Given the description of an element on the screen output the (x, y) to click on. 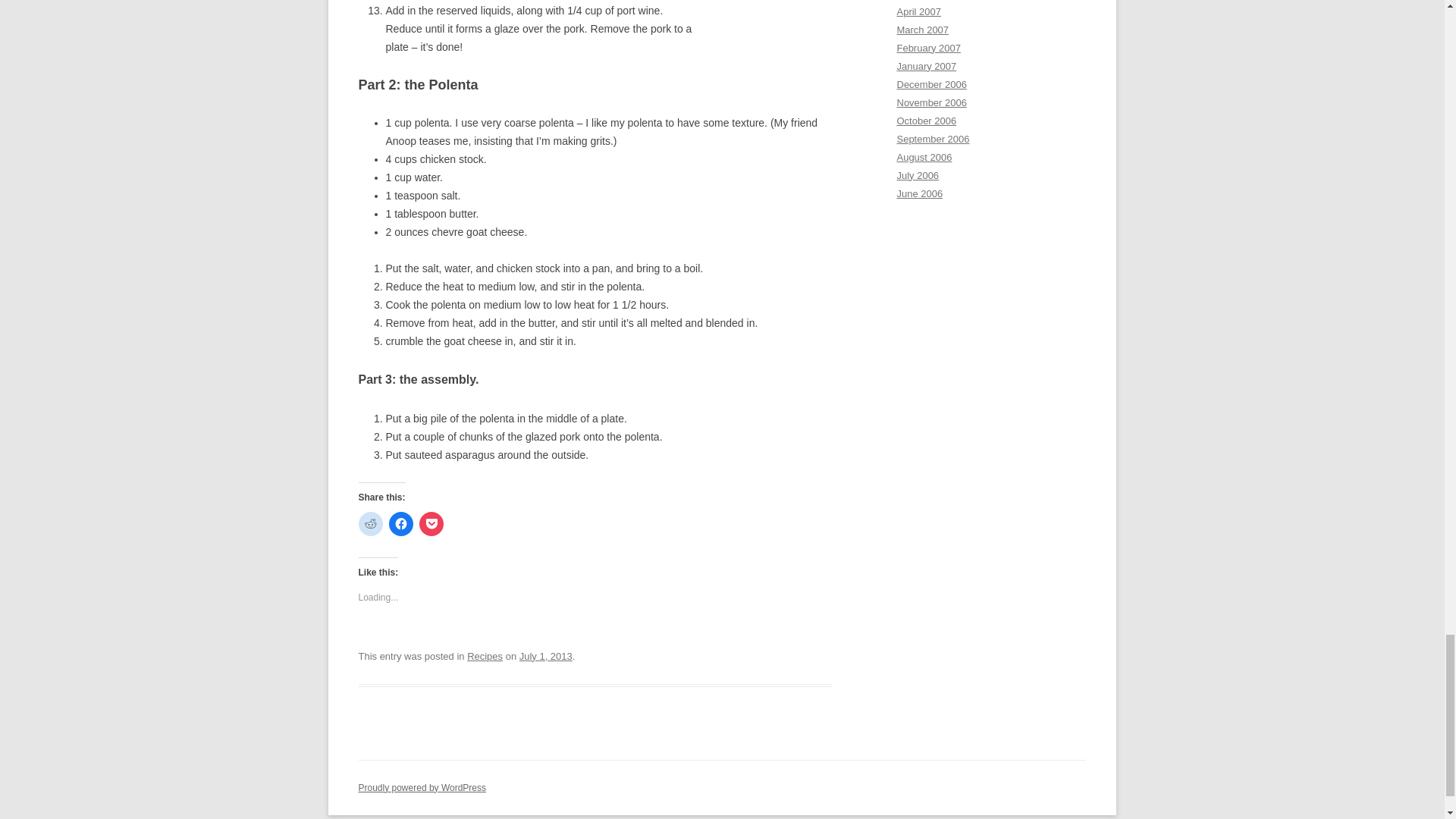
Click to share on Facebook (400, 523)
Click to share on Reddit (369, 523)
Semantic Personal Publishing Platform (422, 787)
7:49 pm (545, 655)
July 1, 2013 (545, 655)
Recipes (484, 655)
Click to share on Pocket (430, 523)
